Given the description of an element on the screen output the (x, y) to click on. 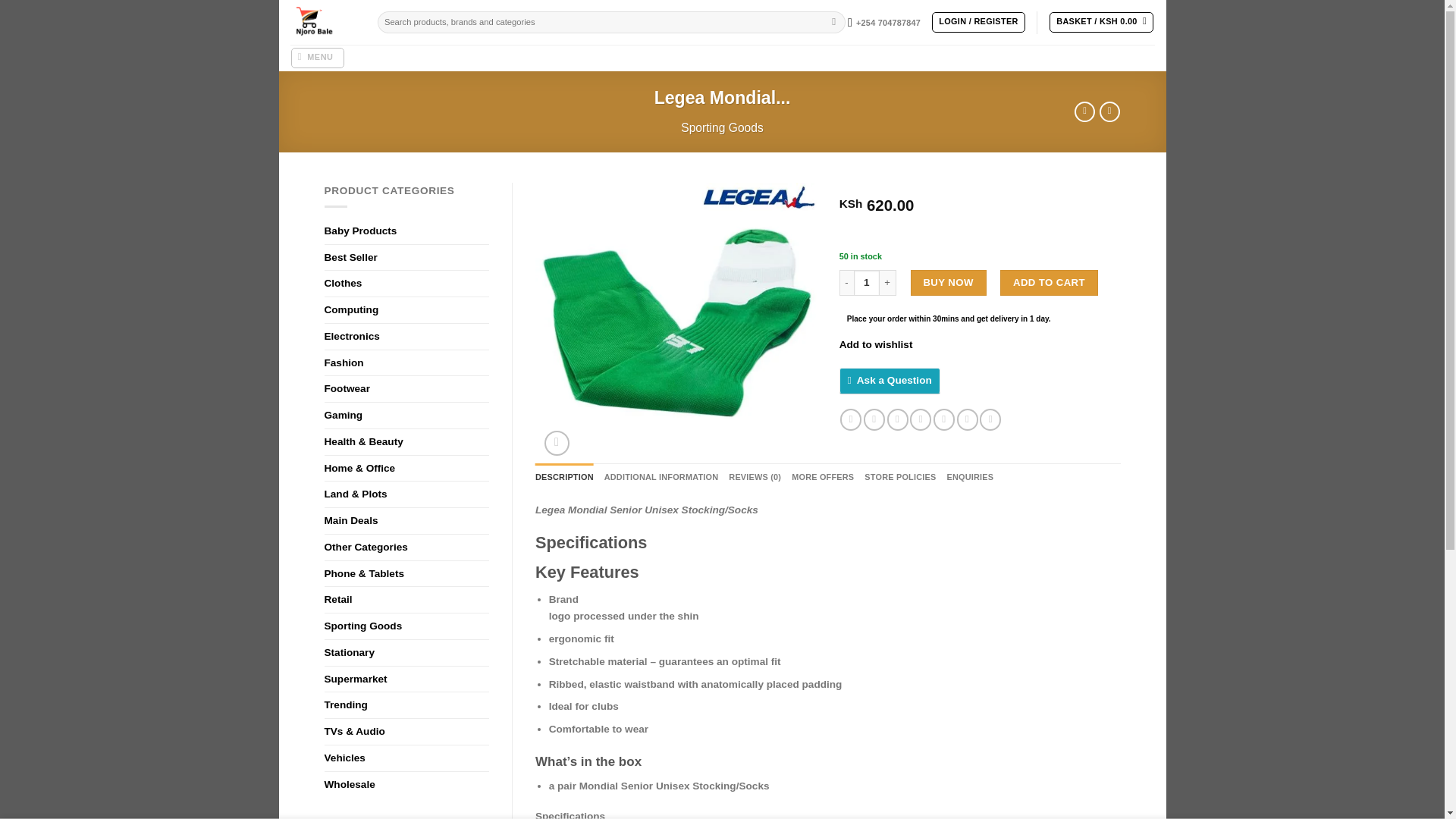
MENU (317, 57)
Share on Twitter (874, 419)
1 (866, 282)
Baby Products (406, 231)
Search (834, 22)
Njoro Bale (321, 22)
Zoom (556, 442)
Share on Facebook (850, 419)
Sporting Goods (721, 127)
